Given the description of an element on the screen output the (x, y) to click on. 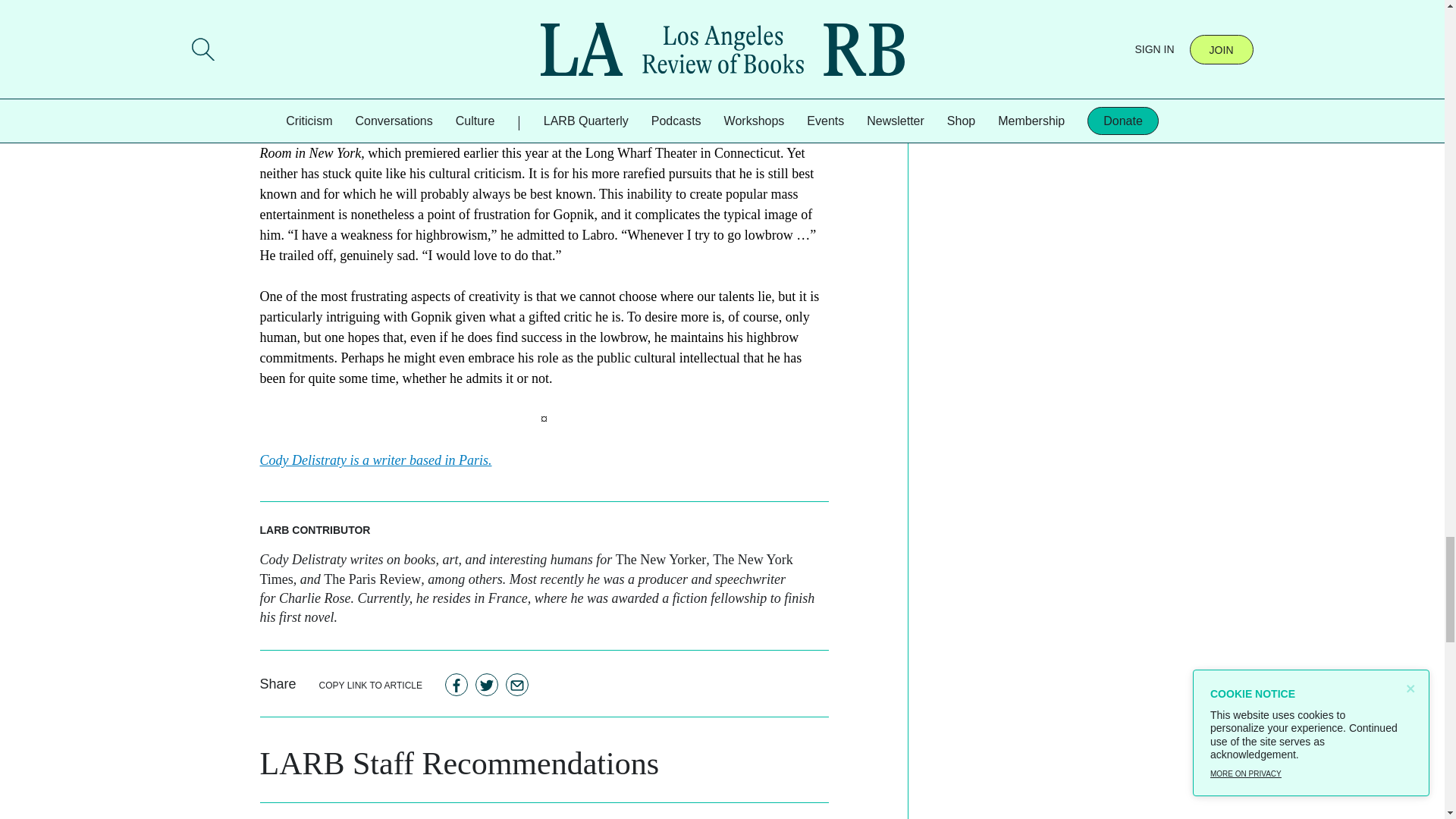
Share on twitter (486, 684)
COPY LINK TO ARTICLE (370, 684)
Cody Delistraty is a writer based in Paris. (375, 459)
Share on facebook (456, 684)
